Given the description of an element on the screen output the (x, y) to click on. 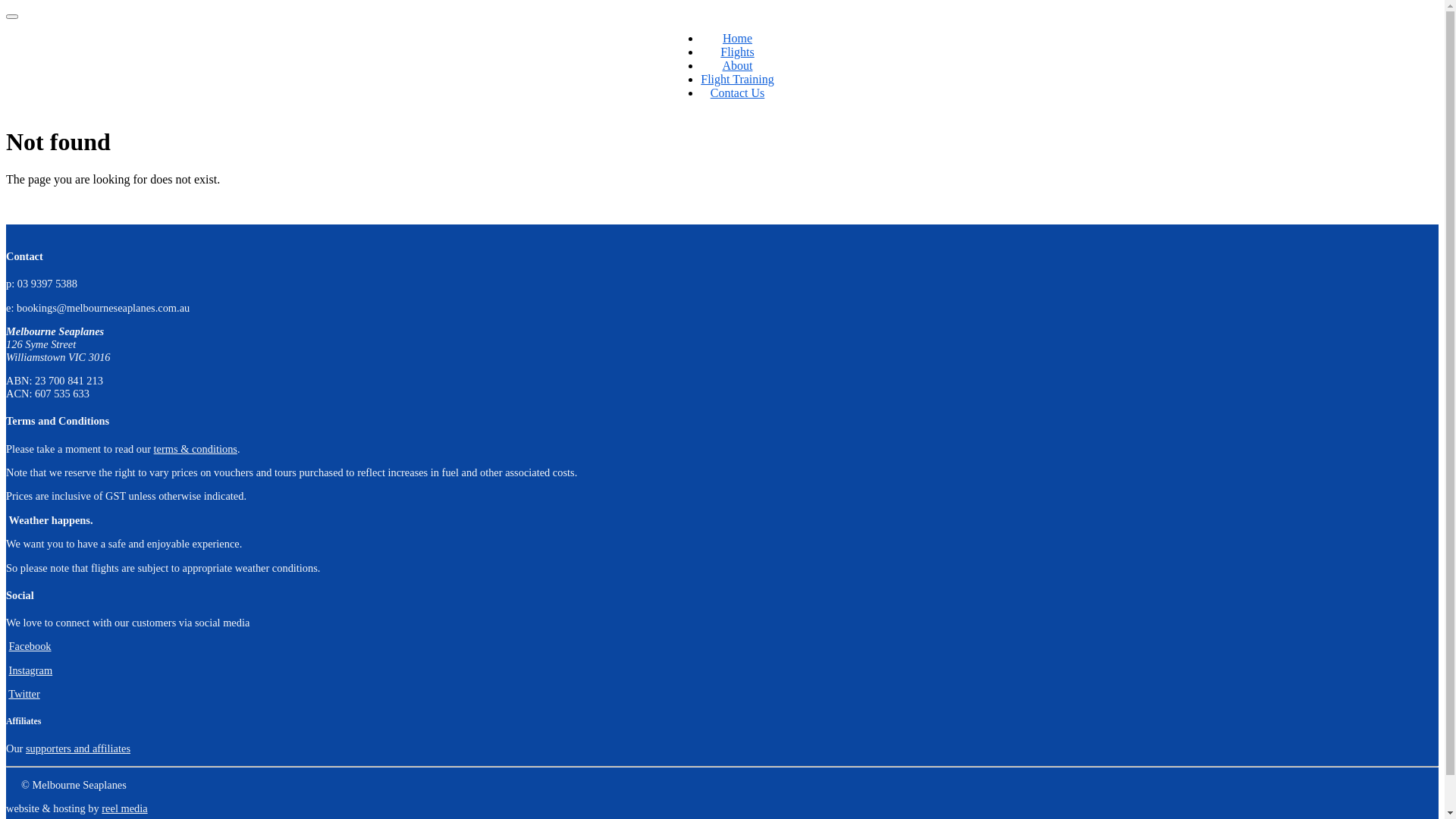
Home Element type: text (737, 37)
Facebook Element type: text (30, 646)
Instagram Element type: text (31, 670)
reel media Element type: text (124, 808)
Contact Us Element type: text (737, 92)
Twitter Element type: text (23, 693)
Flight Training Element type: text (736, 78)
Flights Element type: text (736, 51)
About Element type: text (736, 65)
terms & conditions Element type: text (195, 448)
supporters and affiliates Element type: text (77, 748)
